Given the description of an element on the screen output the (x, y) to click on. 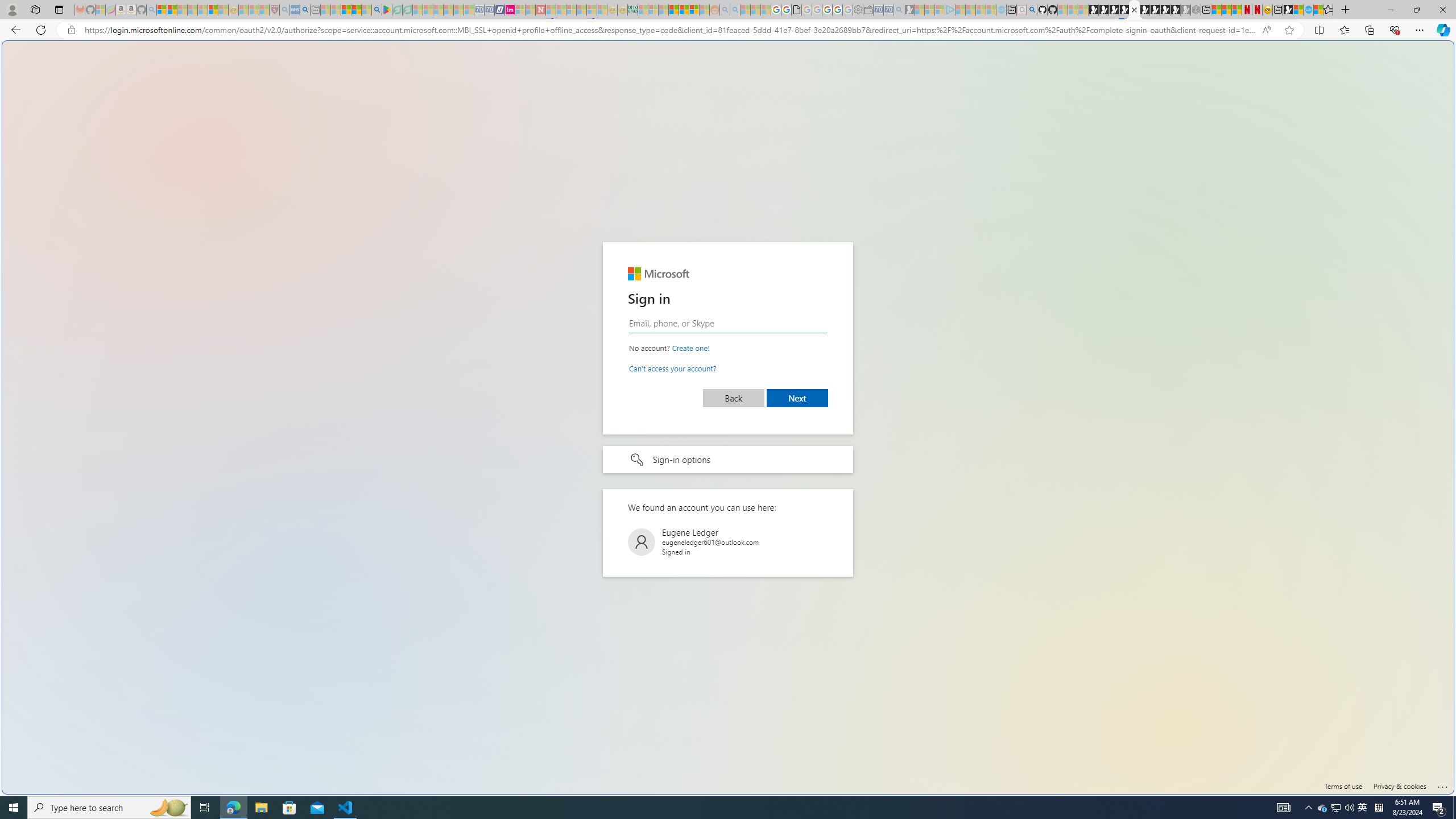
Bluey: Let's Play! - Apps on Google Play (387, 9)
